Given the description of an element on the screen output the (x, y) to click on. 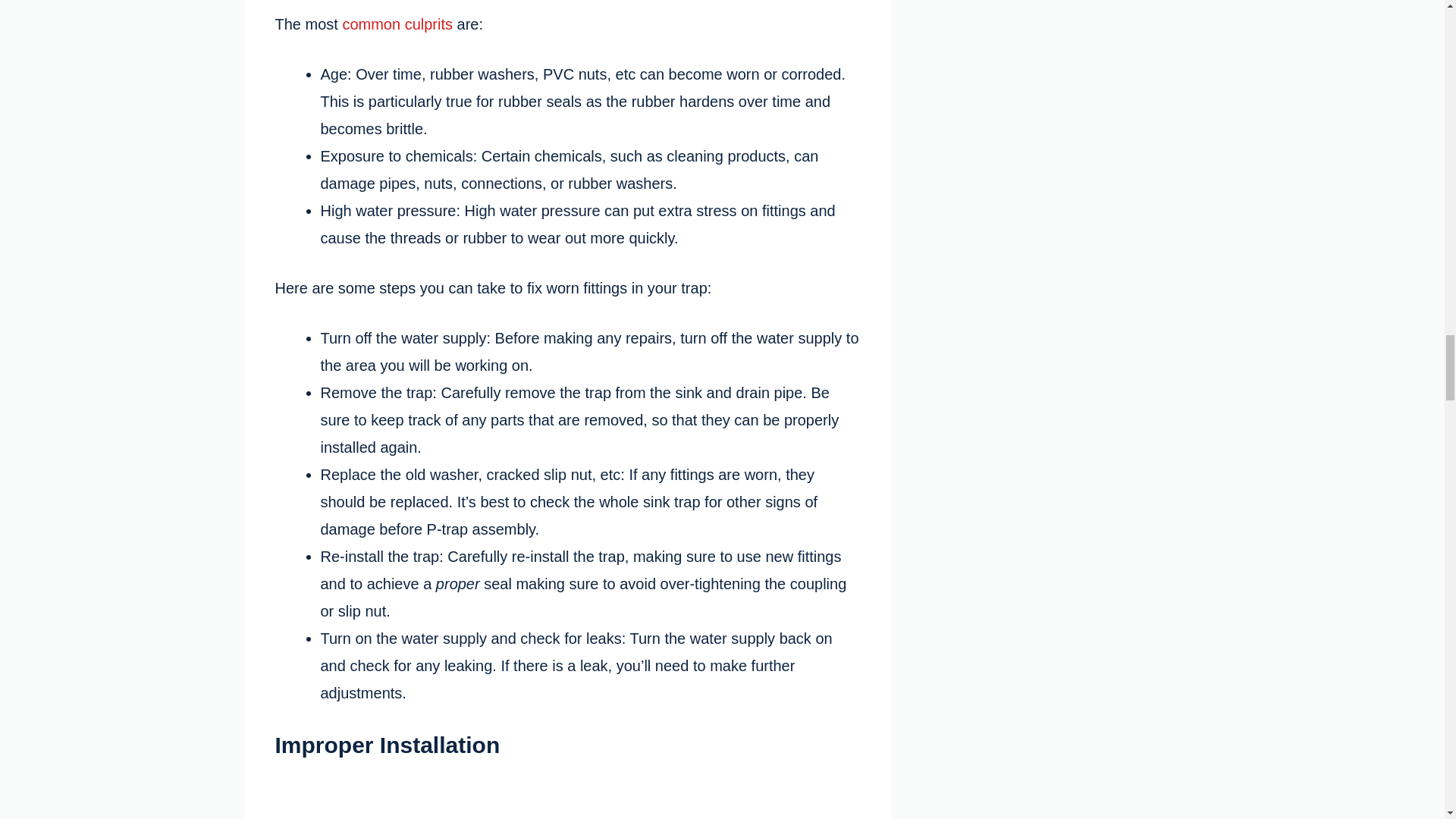
common culprits (397, 23)
